Given the description of an element on the screen output the (x, y) to click on. 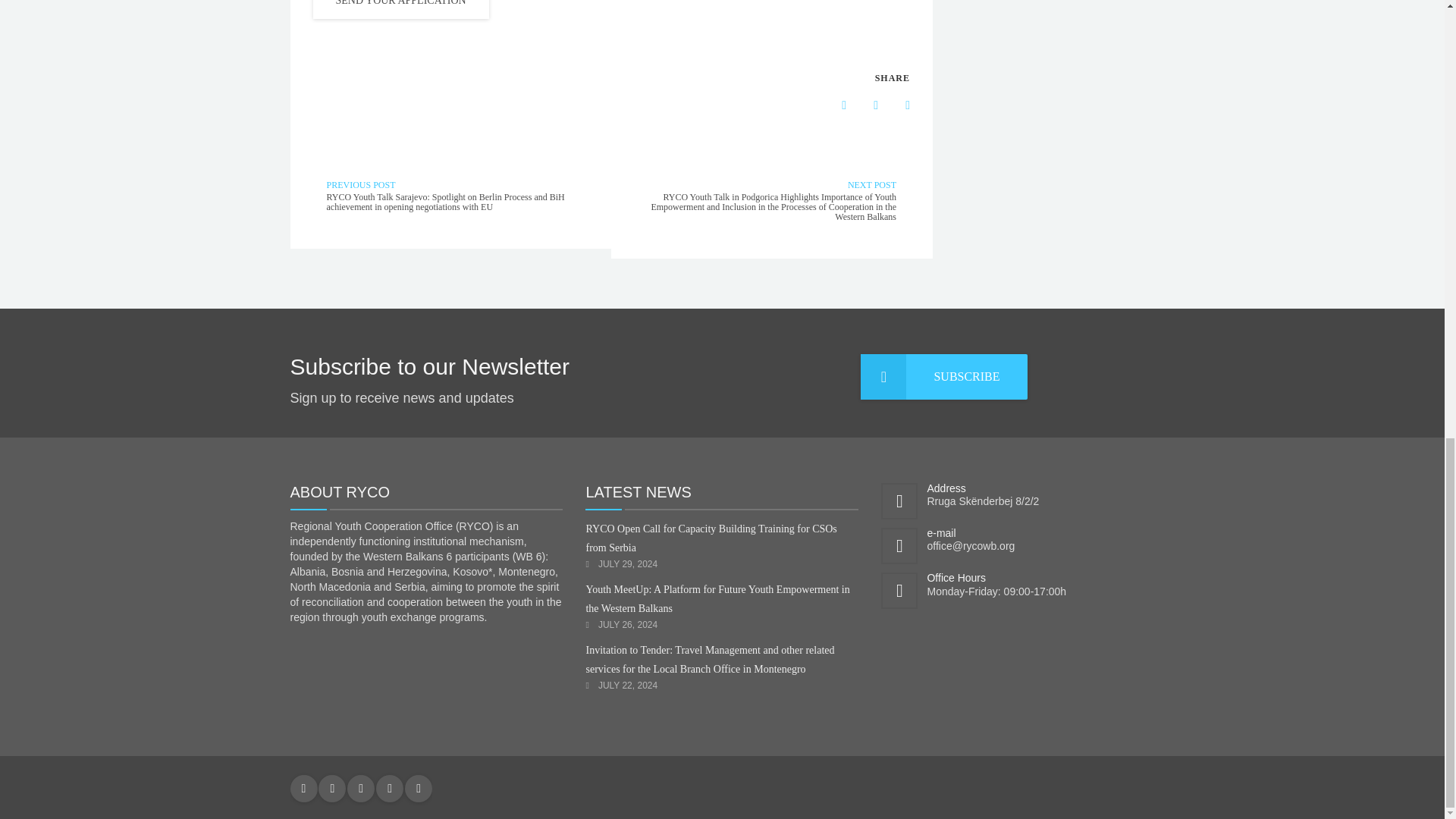
Tweet (896, 104)
Share on LinkedIn (863, 104)
Share on Facebook (831, 104)
